Given the description of an element on the screen output the (x, y) to click on. 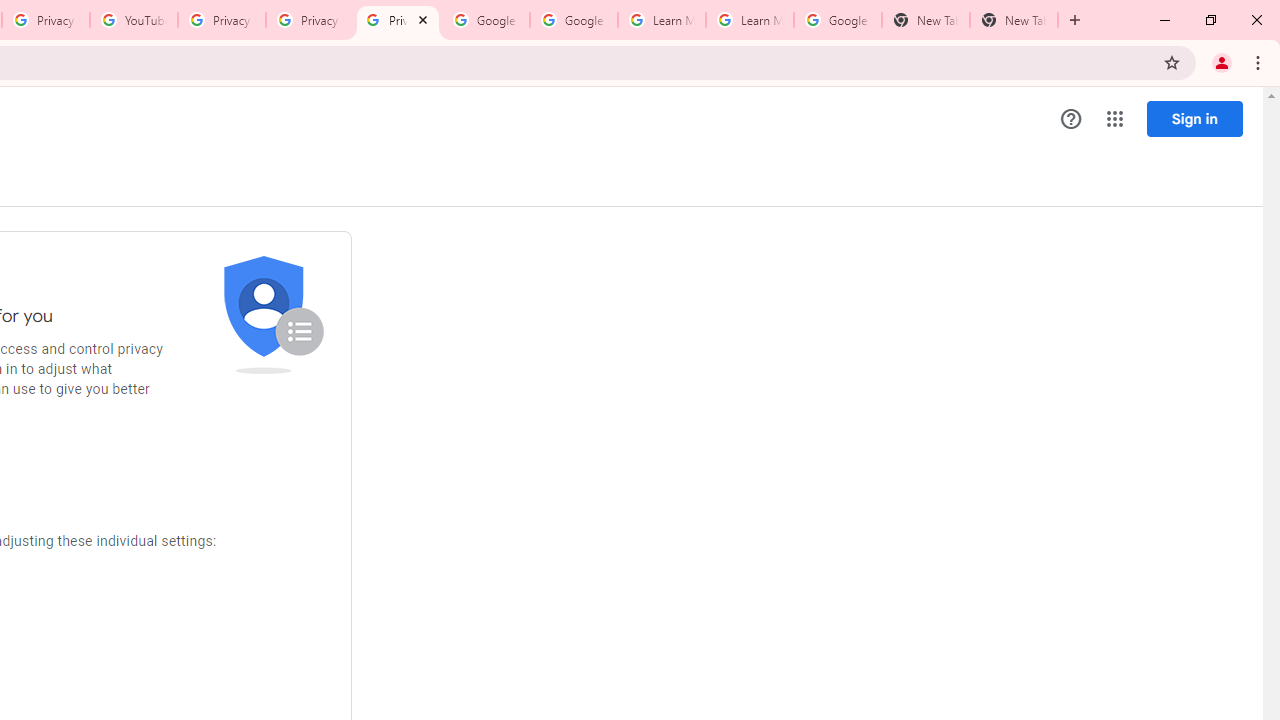
New Tab (1014, 20)
Google Account Help (485, 20)
New Tab (925, 20)
Google Account Help (573, 20)
Google Account (837, 20)
